Given the description of an element on the screen output the (x, y) to click on. 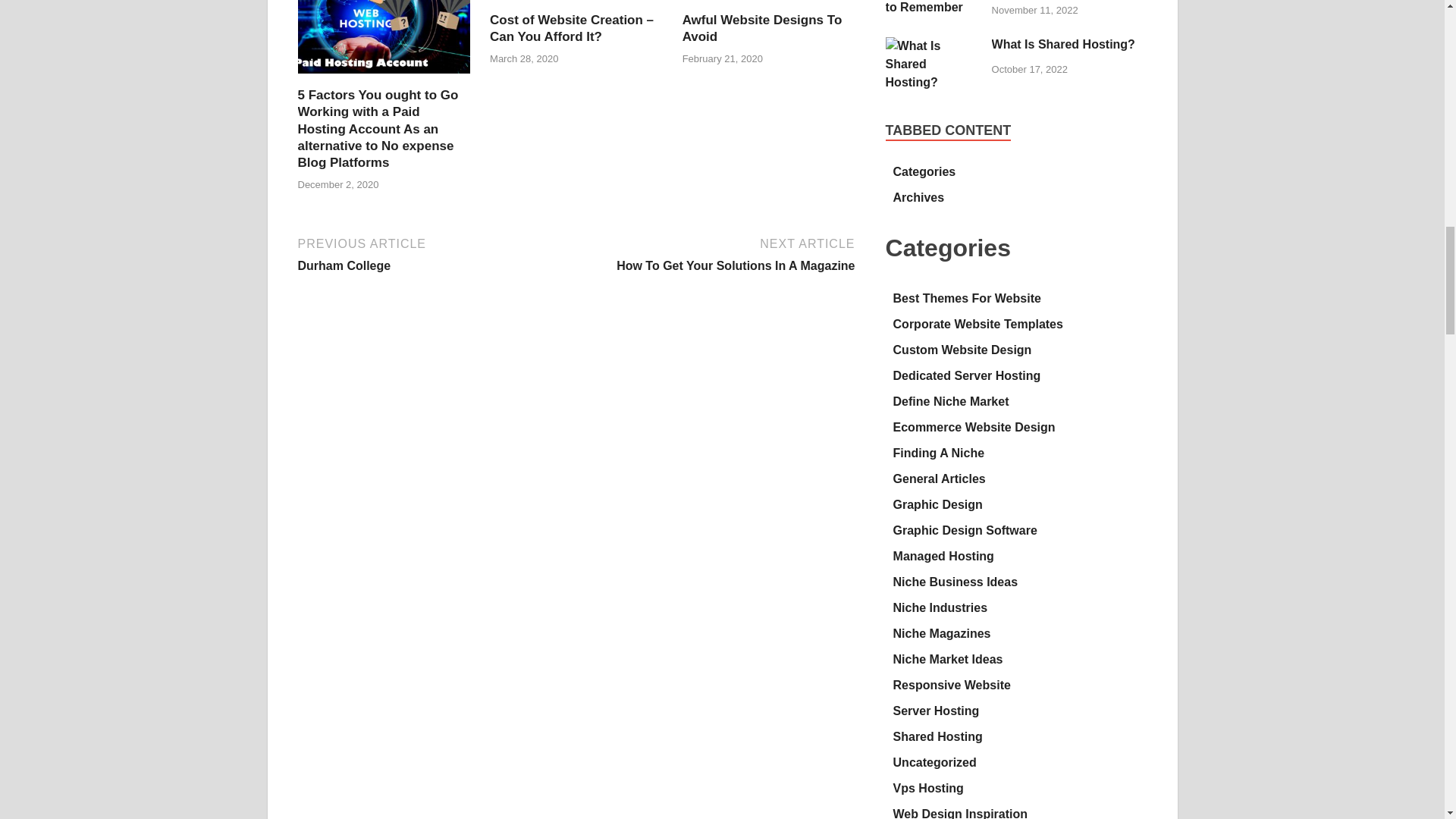
Awful Website Designs To Avoid (762, 28)
